Given the description of an element on the screen output the (x, y) to click on. 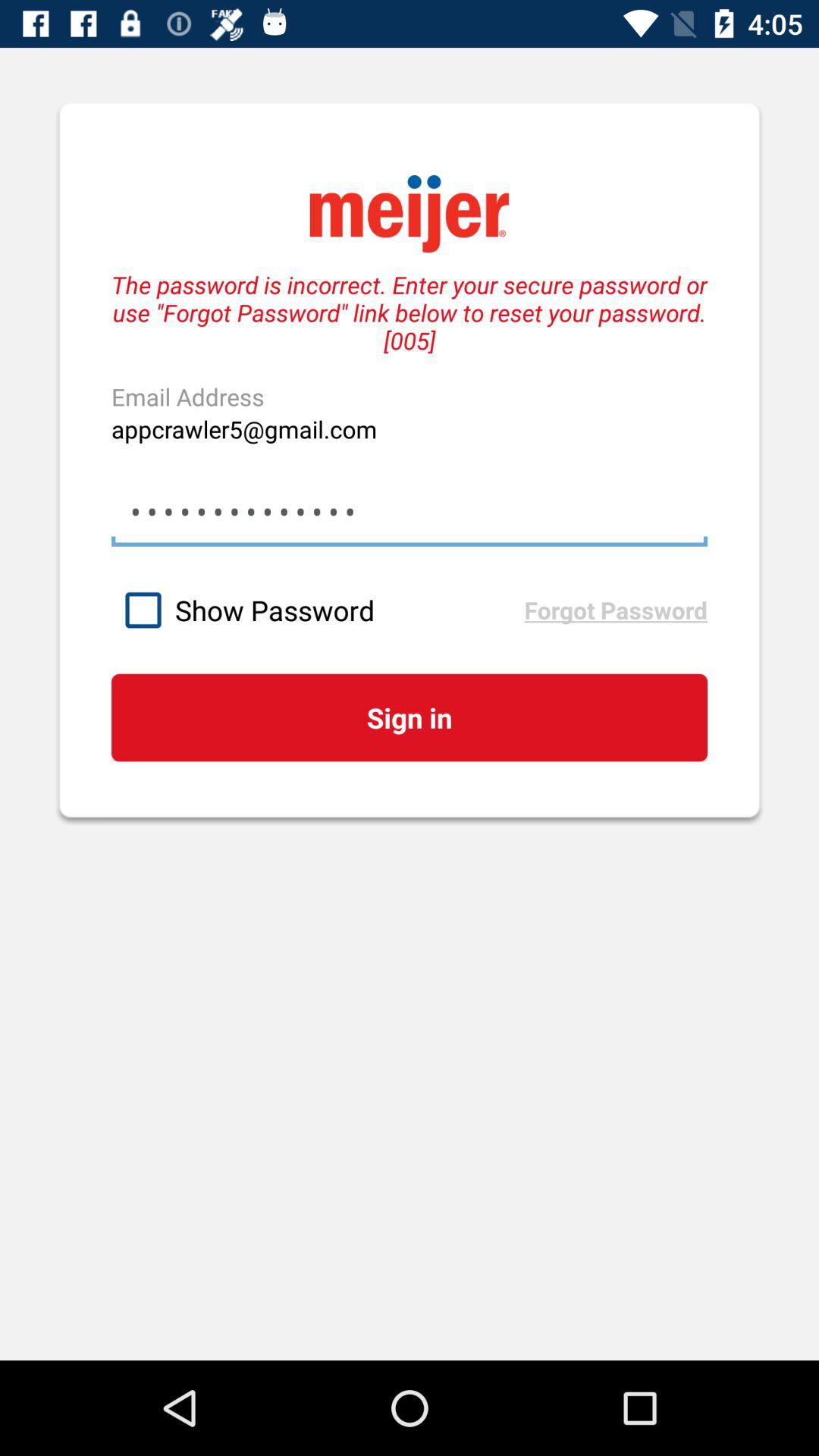
press the icon to the left of forgot password item (317, 610)
